Given the description of an element on the screen output the (x, y) to click on. 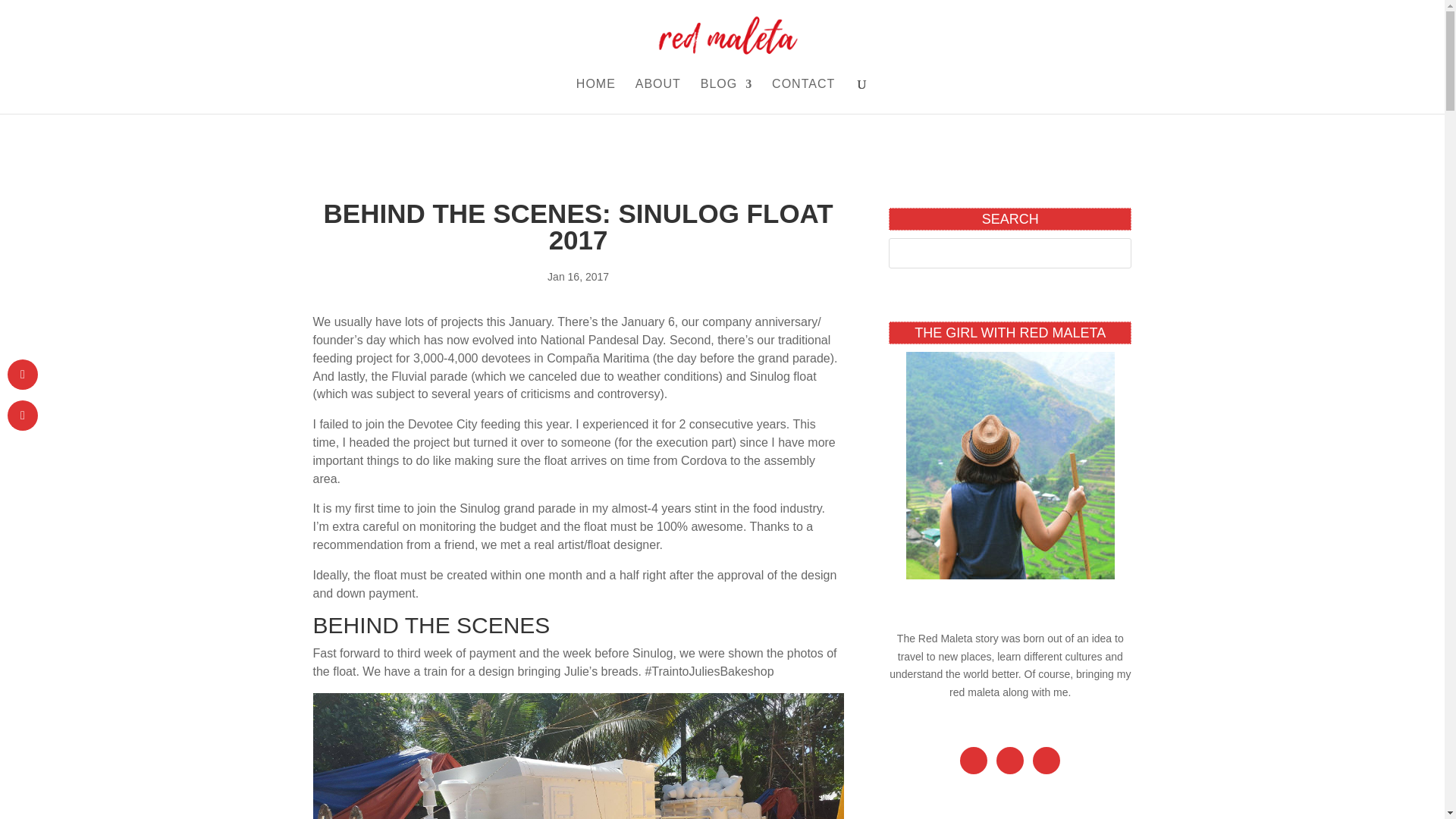
CONTACT (802, 95)
Search (26, 15)
red maleta (973, 692)
Red Maleta (945, 638)
HOME (595, 95)
ABOUT (657, 95)
BLOG (726, 95)
